Given the description of an element on the screen output the (x, y) to click on. 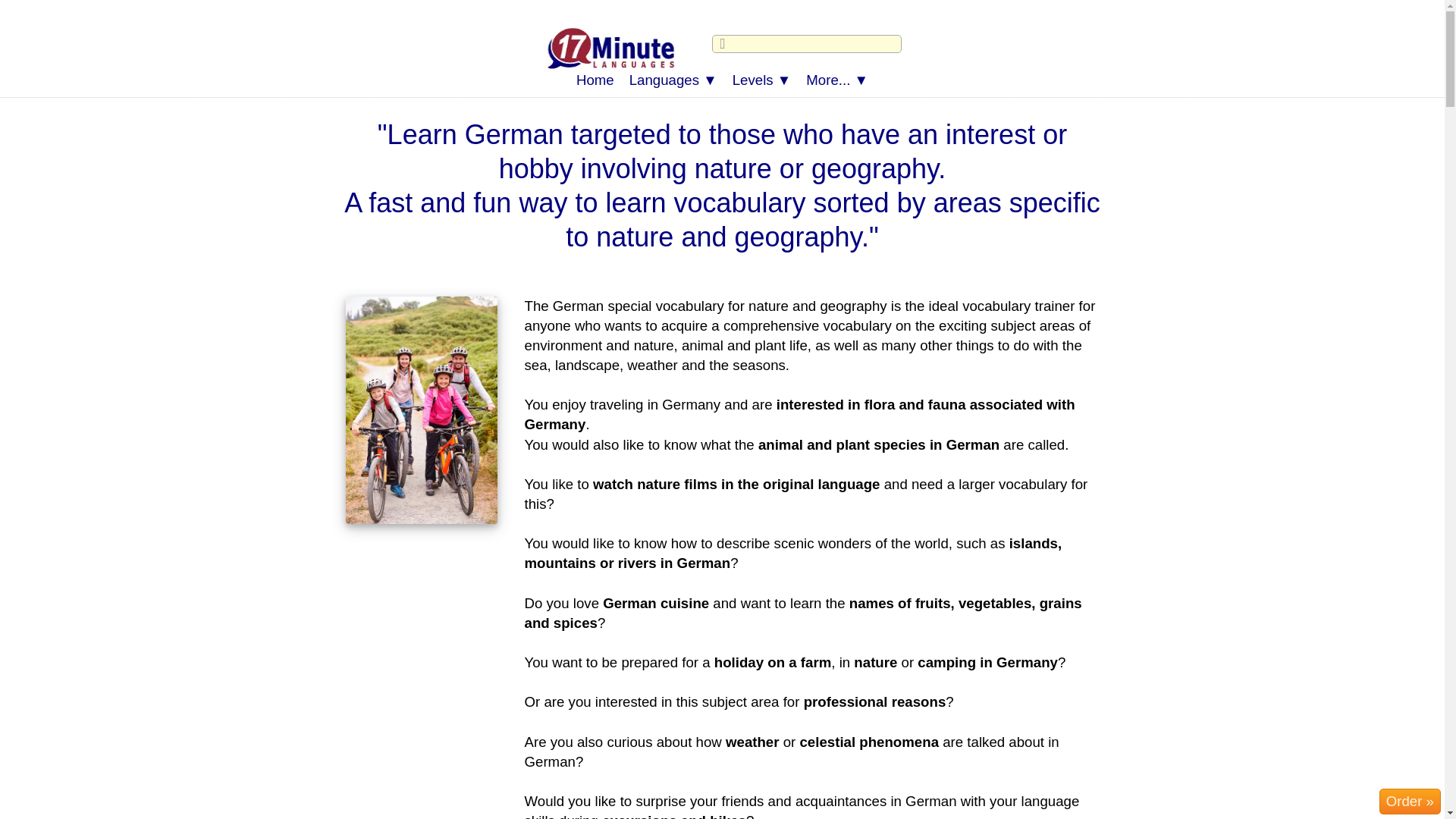
Home (595, 80)
Languages (673, 80)
